Given the description of an element on the screen output the (x, y) to click on. 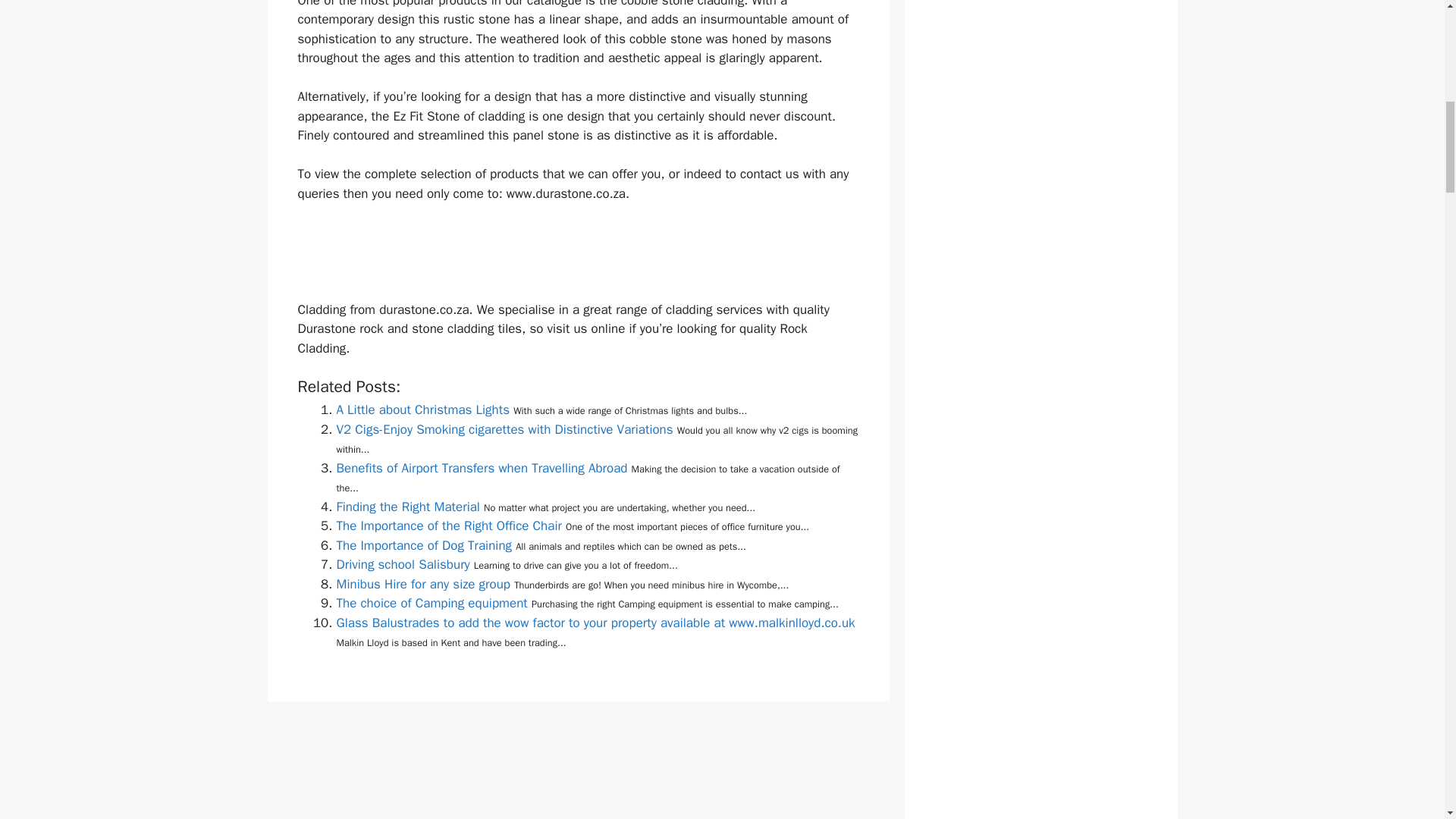
The Importance of the Right Office Chair (449, 525)
The Importance of Dog Training (424, 545)
V2 Cigs-Enjoy Smoking cigarettes with Distinctive Variations (504, 429)
Benefits of Airport Transfers when Travelling Abroad (481, 467)
The choice of Camping equipment (431, 602)
Minibus Hire for any size group (423, 584)
The Importance of Dog Training (424, 545)
Finding the Right Material (408, 506)
Benefits of Airport Transfers when Travelling Abroad (481, 467)
Minibus Hire for any size group (423, 584)
Driving school Salisbury (403, 564)
The choice of Camping equipment (431, 602)
Scroll back to top (1406, 720)
